Given the description of an element on the screen output the (x, y) to click on. 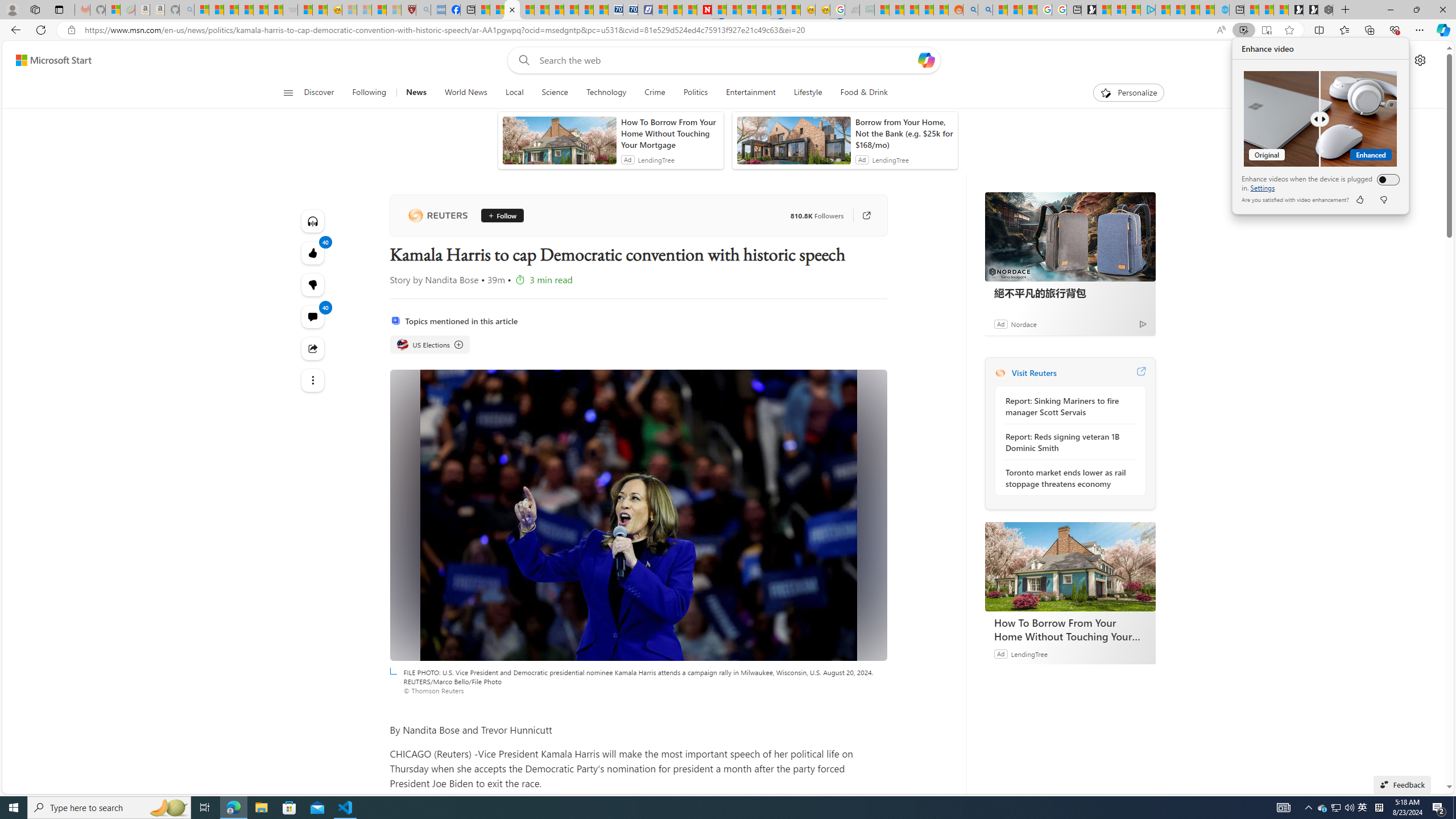
Start (13, 807)
Report: Reds signing veteran 1B Dominic Smith (1066, 441)
Class: at-item (312, 380)
View comments 40 Comment (1362, 807)
Follow (312, 316)
